Given the description of an element on the screen output the (x, y) to click on. 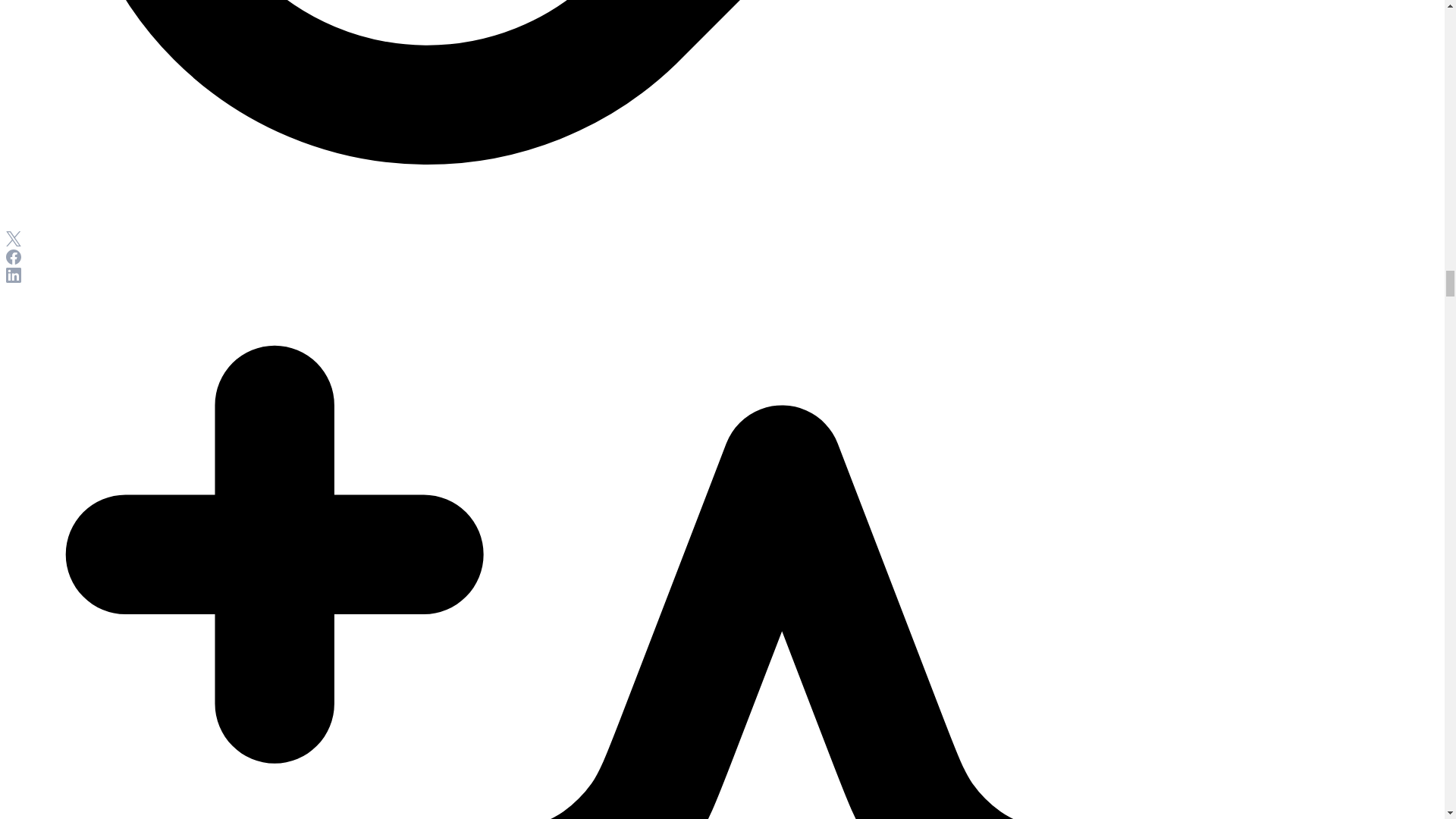
Share on LinkedIn (13, 278)
Share on Facebook (13, 259)
Share on Twitter (13, 241)
